Given the description of an element on the screen output the (x, y) to click on. 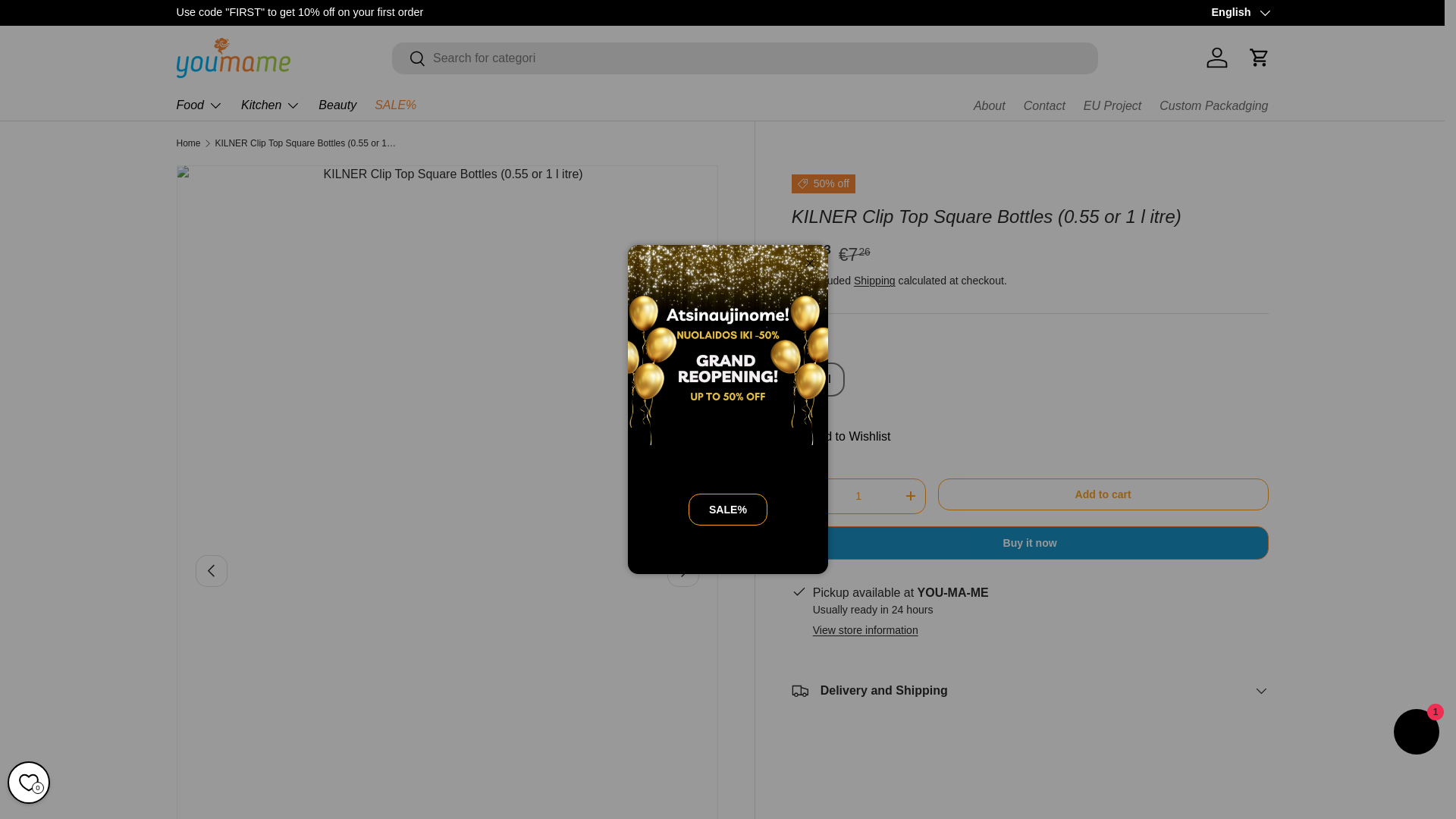
English (1239, 12)
Shopify online store chat (1416, 733)
Skip to content (68, 21)
Log in (1216, 57)
Cart (1258, 57)
Search (408, 58)
Food (199, 105)
1 (858, 495)
